Given the description of an element on the screen output the (x, y) to click on. 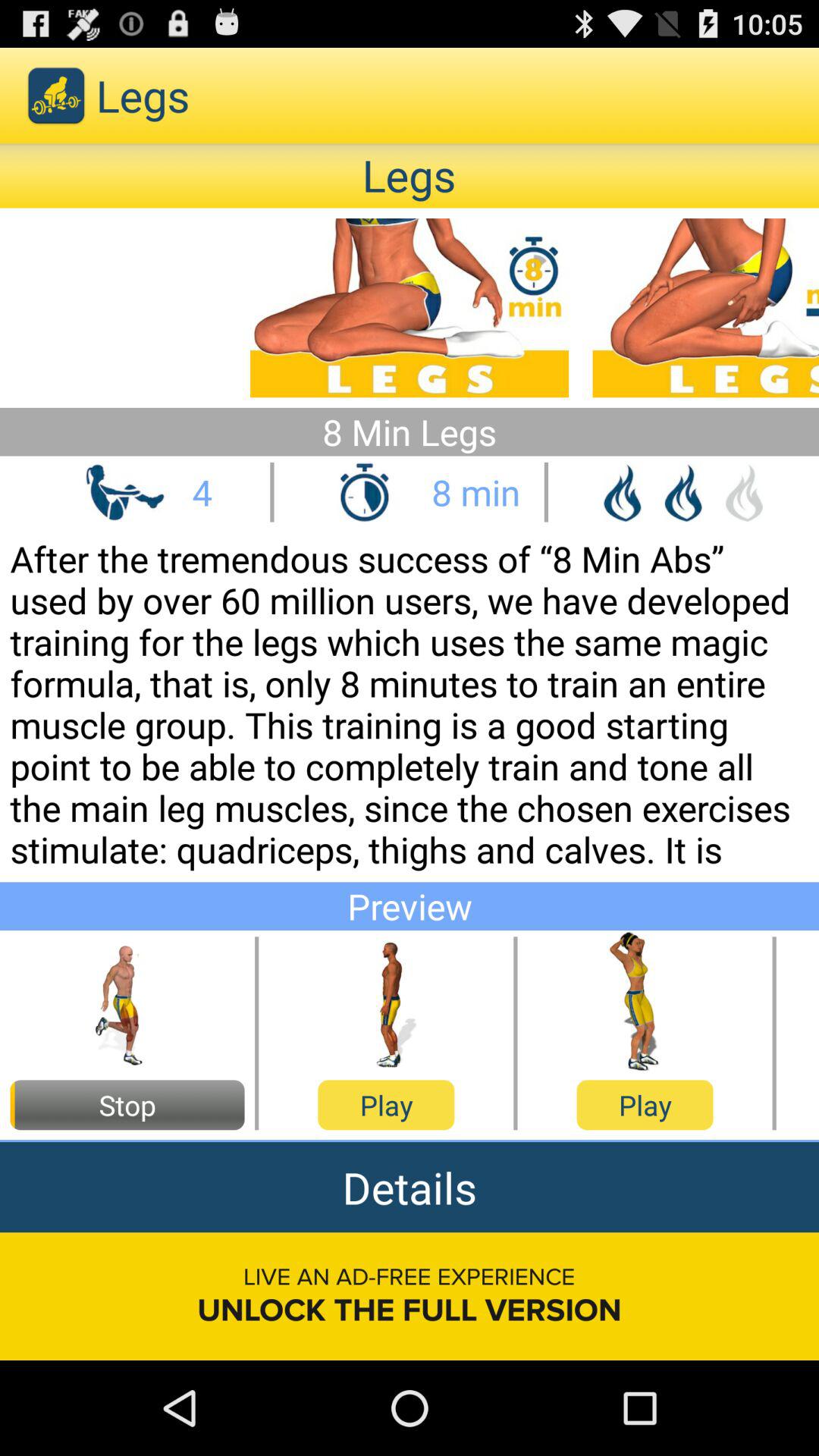
turn off the details (409, 1187)
